Given the description of an element on the screen output the (x, y) to click on. 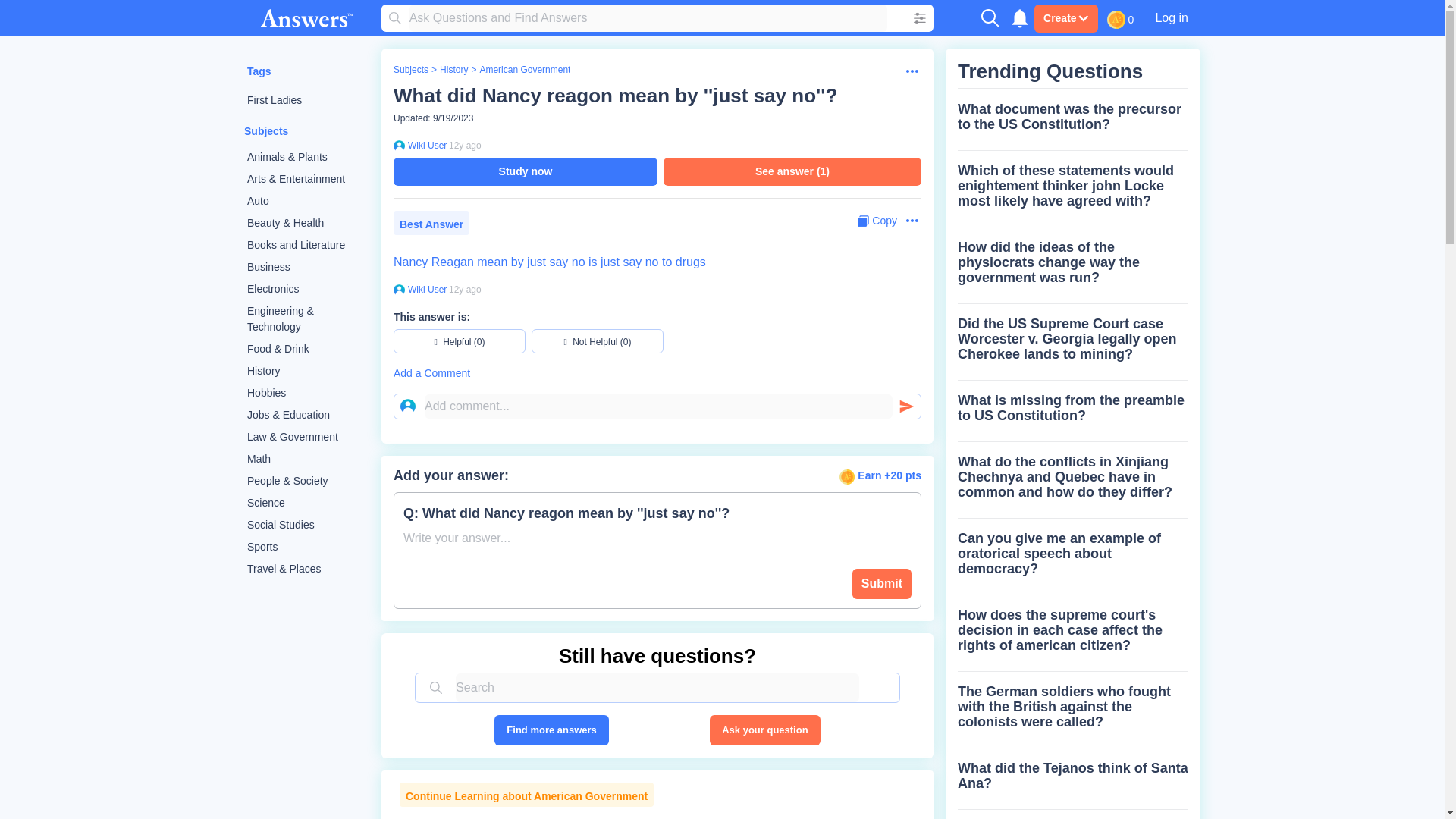
Tags (258, 70)
Science (306, 503)
Copy (876, 220)
Electronics (306, 289)
2012-04-30 15:22:53 (464, 289)
Subjects (266, 131)
Math (306, 458)
Log in (1170, 17)
Auto (306, 201)
Create (1065, 18)
